Given the description of an element on the screen output the (x, y) to click on. 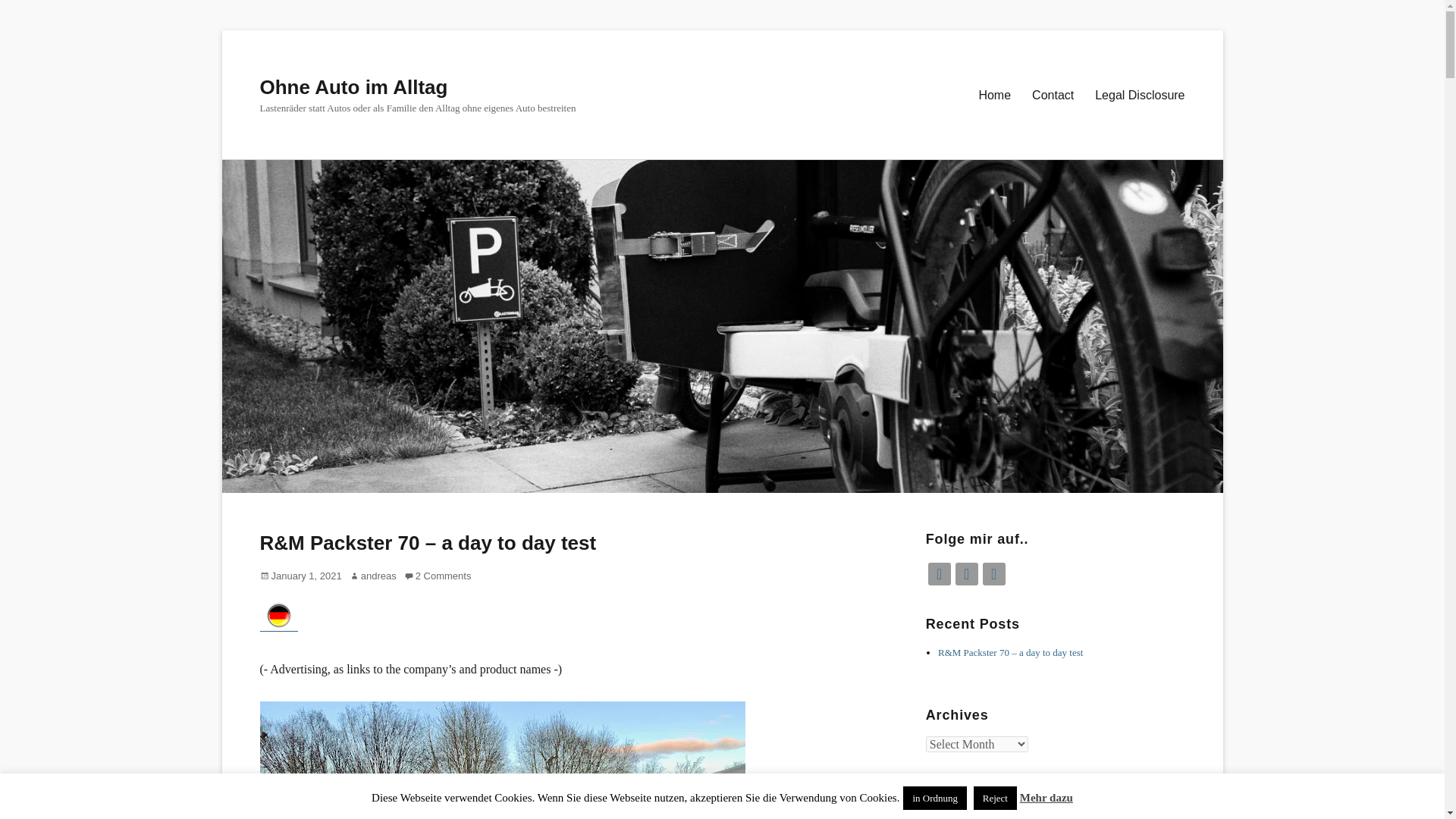
Legal Disclosure (1139, 94)
January 1, 2021 (299, 575)
Home (995, 94)
Twitter (994, 573)
2 Comments (437, 575)
Contact (1053, 94)
Ohne Auto im Alltag (352, 87)
Search for: (1041, 793)
Instagram (966, 573)
Facebook (939, 573)
andreas (372, 575)
